Given the description of an element on the screen output the (x, y) to click on. 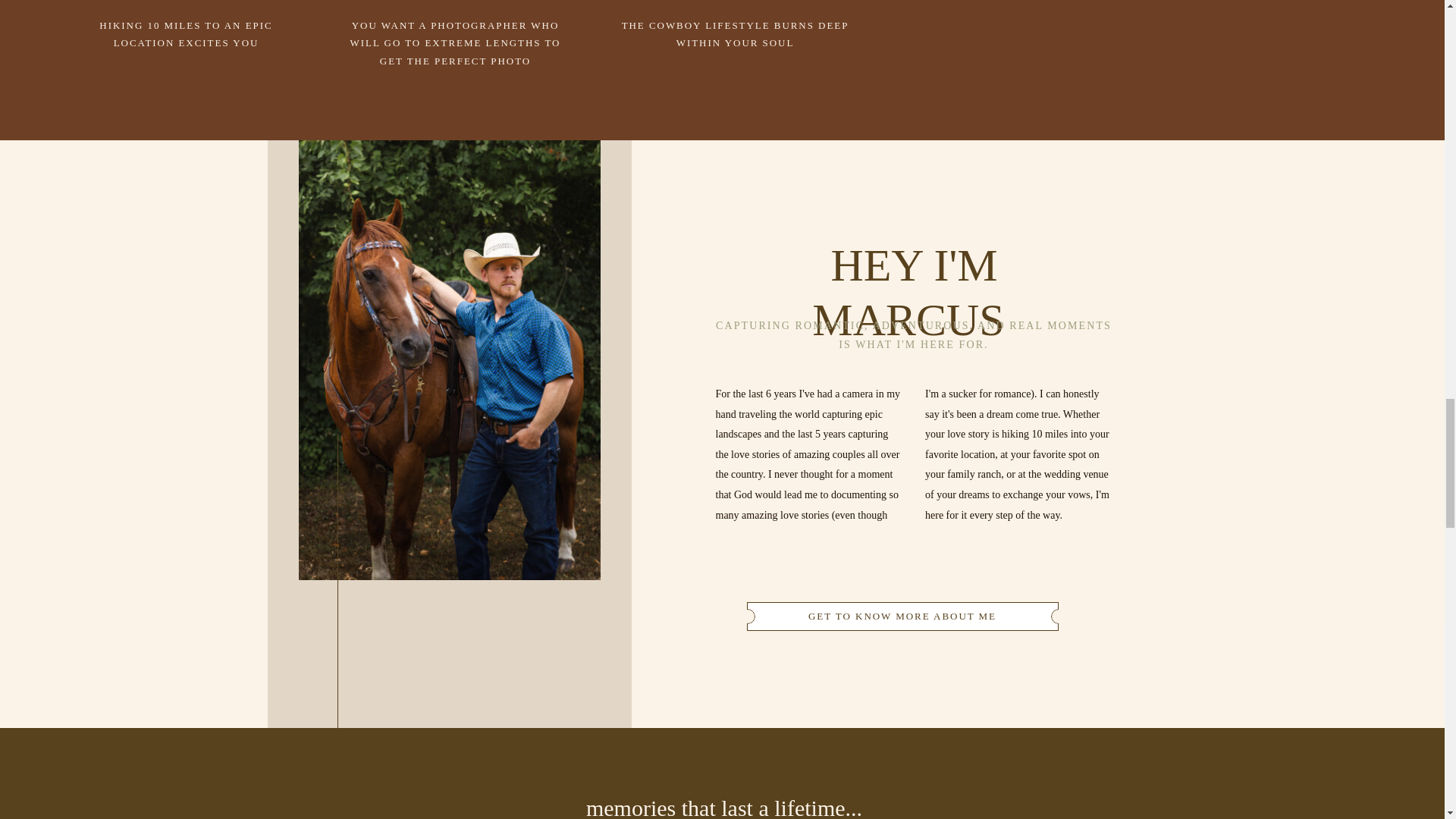
GET TO KNOW MORE ABOUT ME (901, 616)
